Given the description of an element on the screen output the (x, y) to click on. 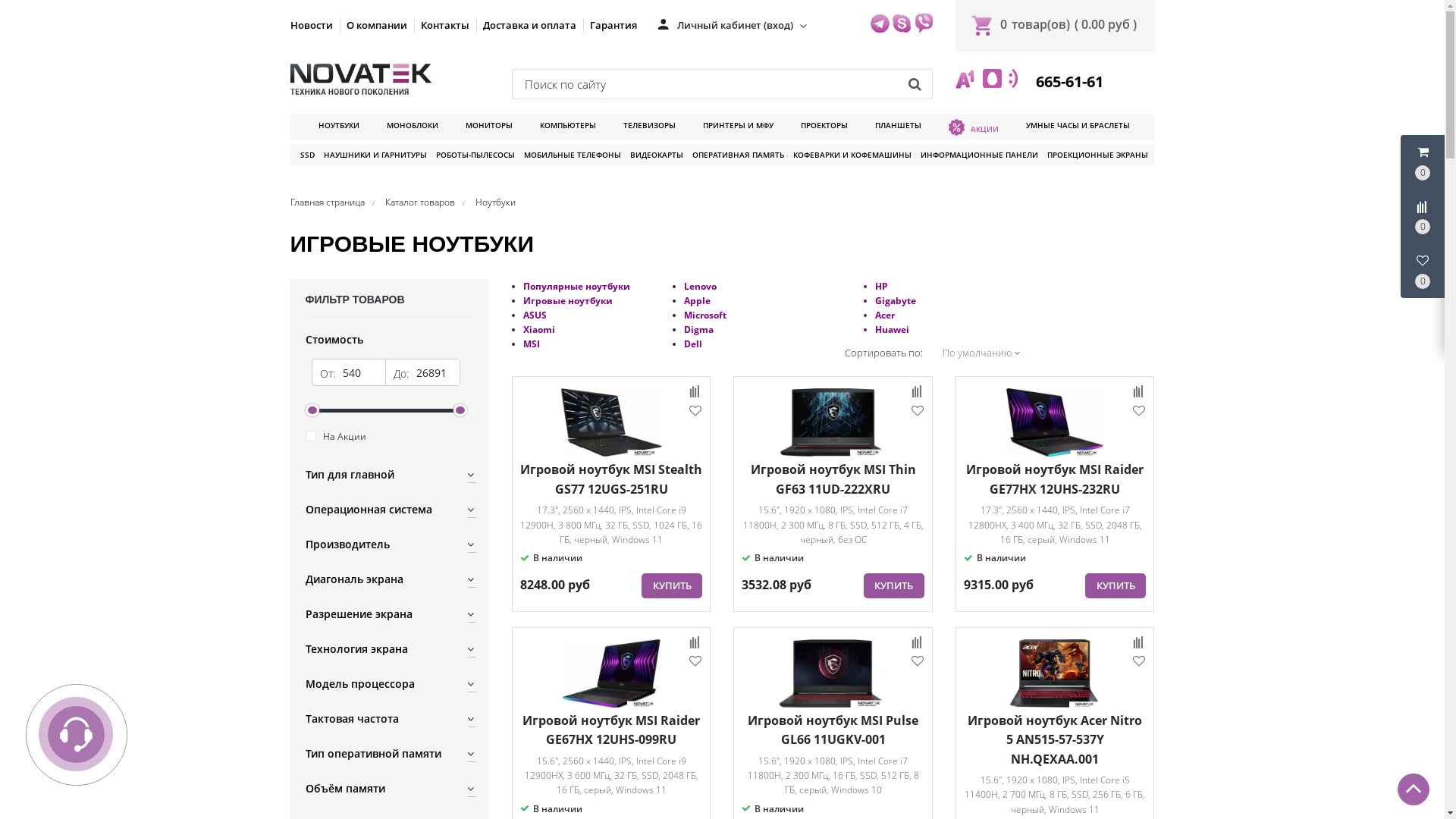
Microsoft Element type: text (705, 314)
Dell Element type: text (693, 343)
MSI Element type: text (531, 343)
Huawei Element type: text (892, 329)
Gigabyte Element type: text (895, 300)
Acer Element type: text (884, 314)
Apple Element type: text (697, 300)
ASUS Element type: text (534, 314)
 665-61-61 Element type: text (1067, 81)
Lenovo Element type: text (700, 285)
Xiaomi Element type: text (539, 329)
SSD Element type: text (307, 154)
Digma Element type: text (698, 329)
HP Element type: text (881, 285)
